Given the description of an element on the screen output the (x, y) to click on. 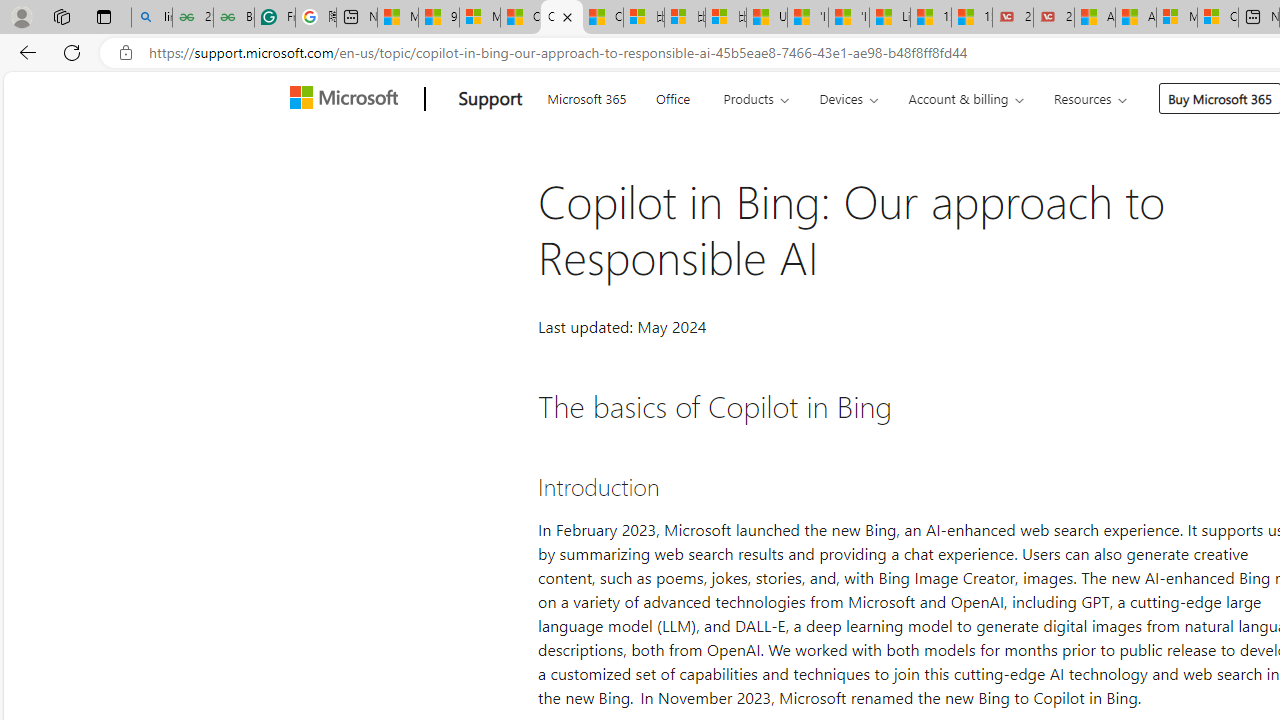
USA TODAY - MSN (767, 17)
Support (490, 99)
Office (672, 96)
21 Movies That Outdid the Books They Were Based On (1053, 17)
Free AI Writing Assistance for Students | Grammarly (274, 17)
